Given the description of an element on the screen output the (x, y) to click on. 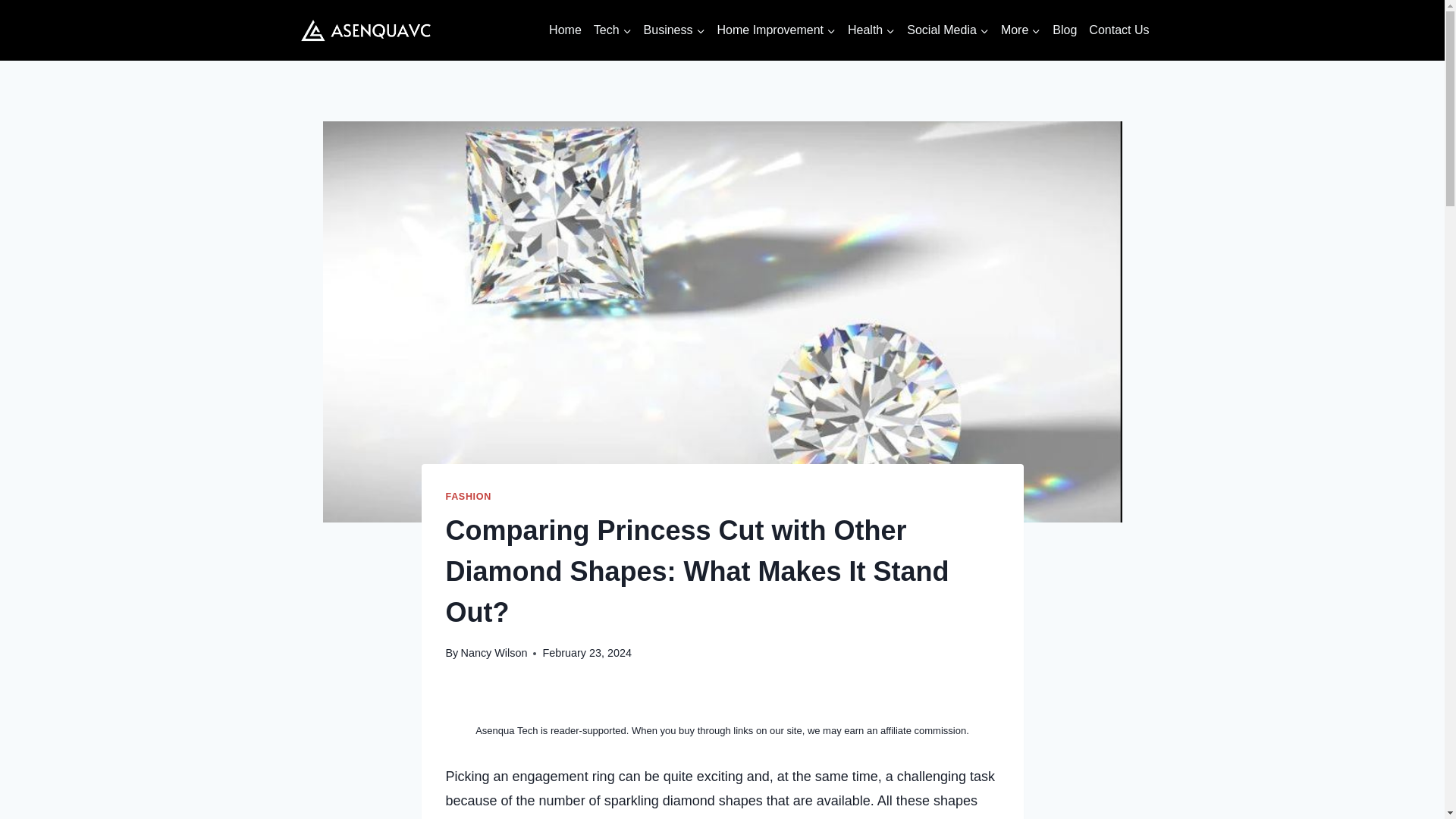
Business (674, 30)
Home Improvement (777, 30)
Social Media (947, 30)
Tech (612, 30)
Home (565, 30)
Health (871, 30)
